Given the description of an element on the screen output the (x, y) to click on. 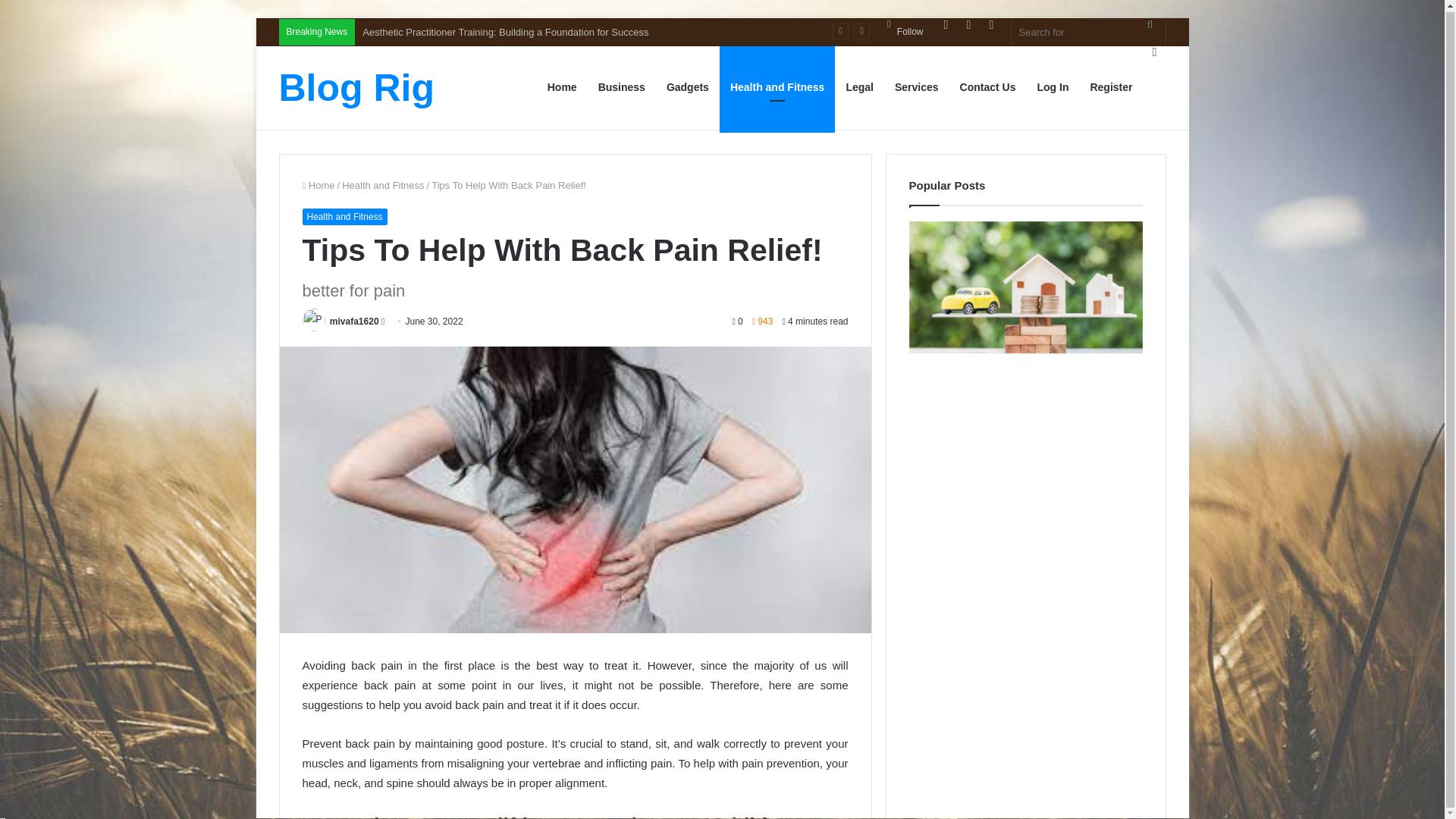
Log In (945, 24)
Home (317, 184)
Follow (905, 31)
Sidebar (991, 24)
Blog Rig (357, 87)
Sidebar (1154, 51)
Search for (1088, 31)
Contact Us (987, 86)
Health and Fitness (776, 86)
Health and Fitness (382, 184)
